Given the description of an element on the screen output the (x, y) to click on. 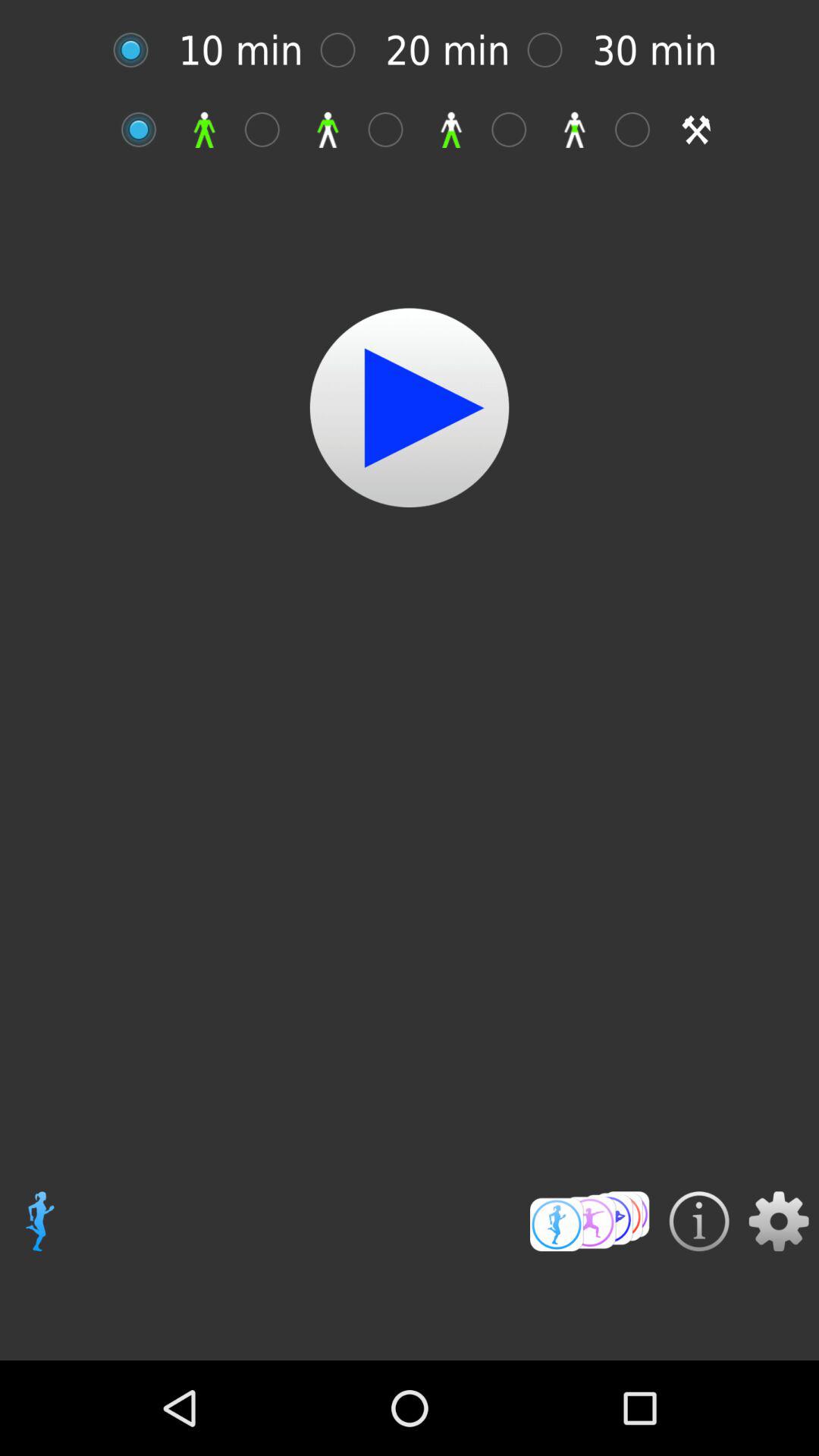
select user (269, 129)
